Given the description of an element on the screen output the (x, y) to click on. 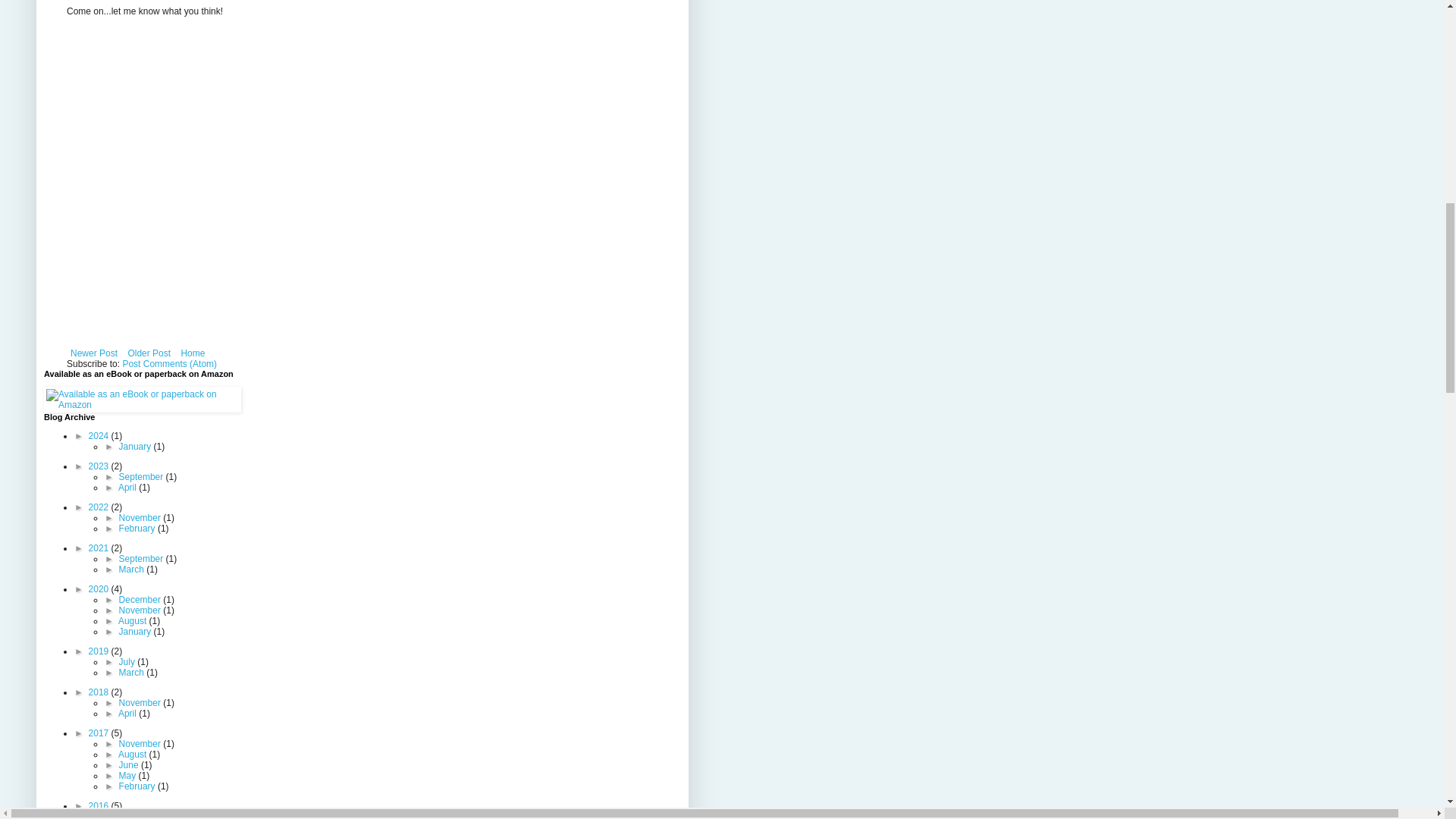
January (136, 446)
Older Post (148, 352)
September (142, 476)
Newer Post (93, 352)
April (127, 487)
Home (192, 352)
Older Post (148, 352)
Newer Post (93, 352)
2024 (100, 435)
2022 (100, 507)
2023 (100, 466)
November (141, 517)
